Given the description of an element on the screen output the (x, y) to click on. 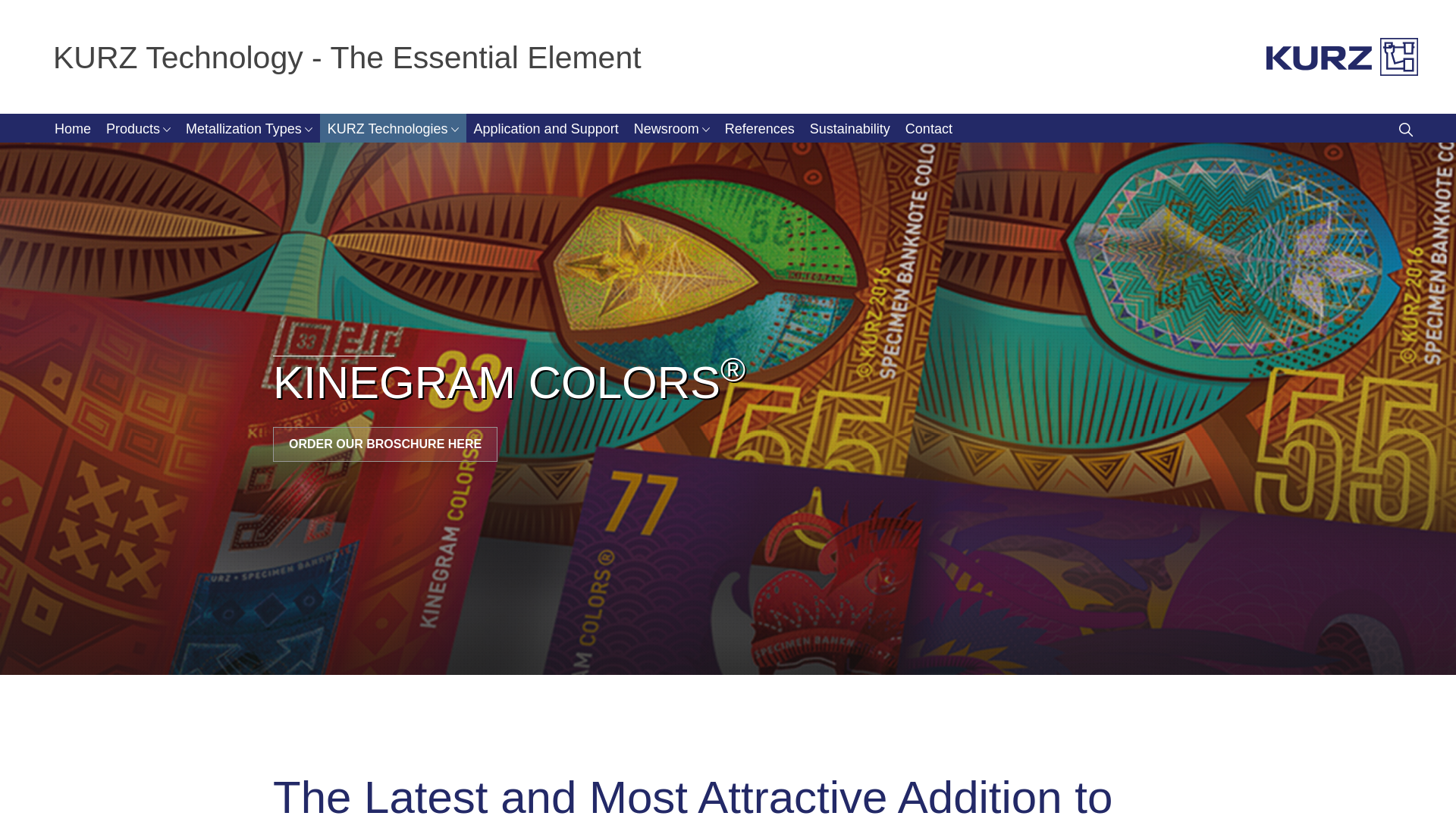
References (759, 127)
ORDER OUR BROSCHURE HERE (385, 443)
KURZ Technologies (392, 127)
Sustainability (850, 127)
Metallization Types (248, 127)
Newsroom (671, 127)
Home (72, 127)
Application and Support (545, 127)
Home (72, 127)
Metallization Types (248, 127)
